Given the description of an element on the screen output the (x, y) to click on. 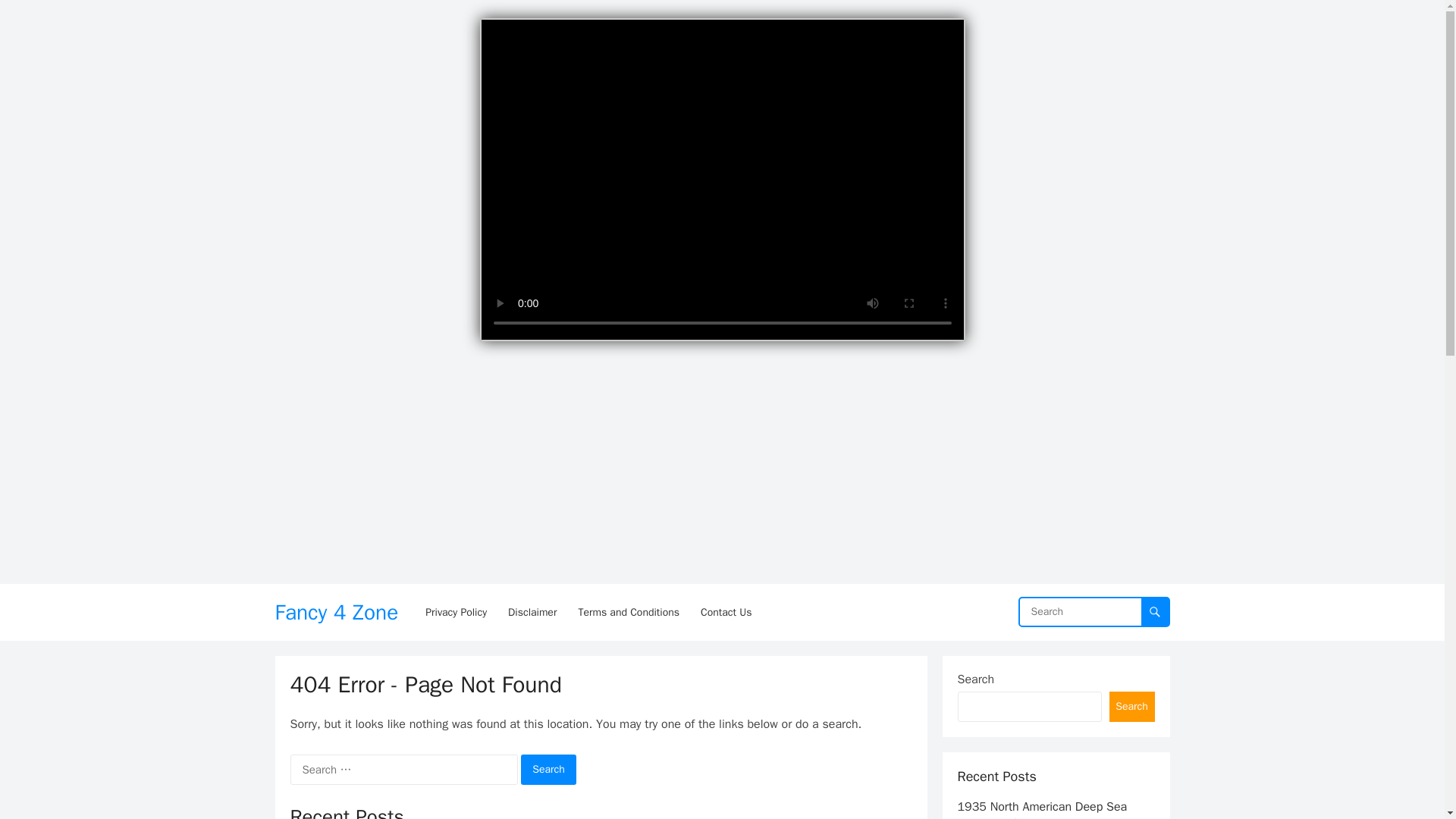
Search (1131, 706)
Terms and Conditions (628, 611)
Search (548, 769)
Privacy Policy (456, 611)
Disclaimer (532, 611)
Fancy 4 Zone (336, 611)
Contact Us (725, 611)
Search (548, 769)
Search (548, 769)
